Given the description of an element on the screen output the (x, y) to click on. 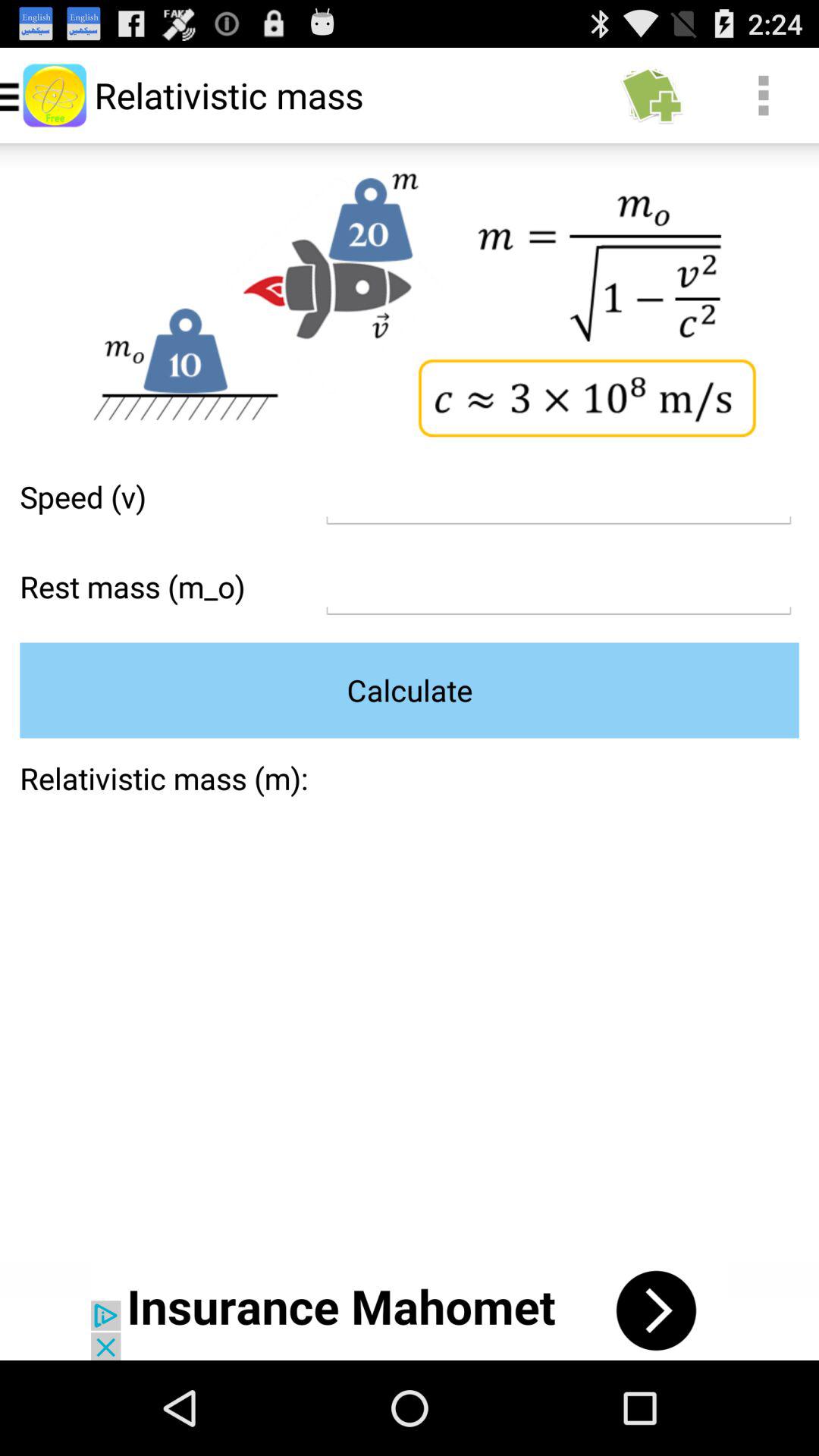
open the advertisements (409, 1310)
